Given the description of an element on the screen output the (x, y) to click on. 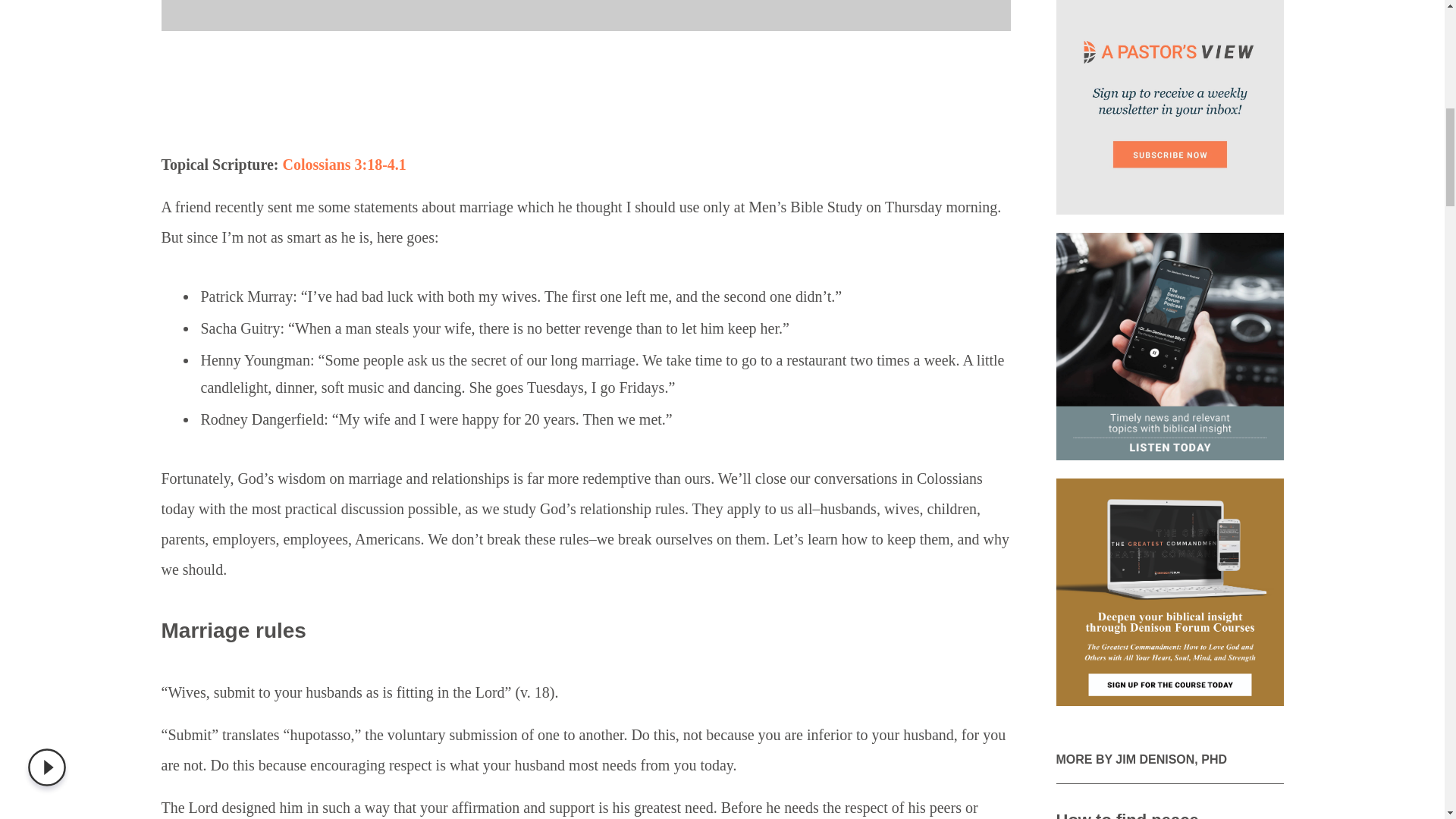
Colossians 3:18-4.1 (344, 164)
How to find peace (1126, 814)
Opens in a new window (1168, 346)
